Given the description of an element on the screen output the (x, y) to click on. 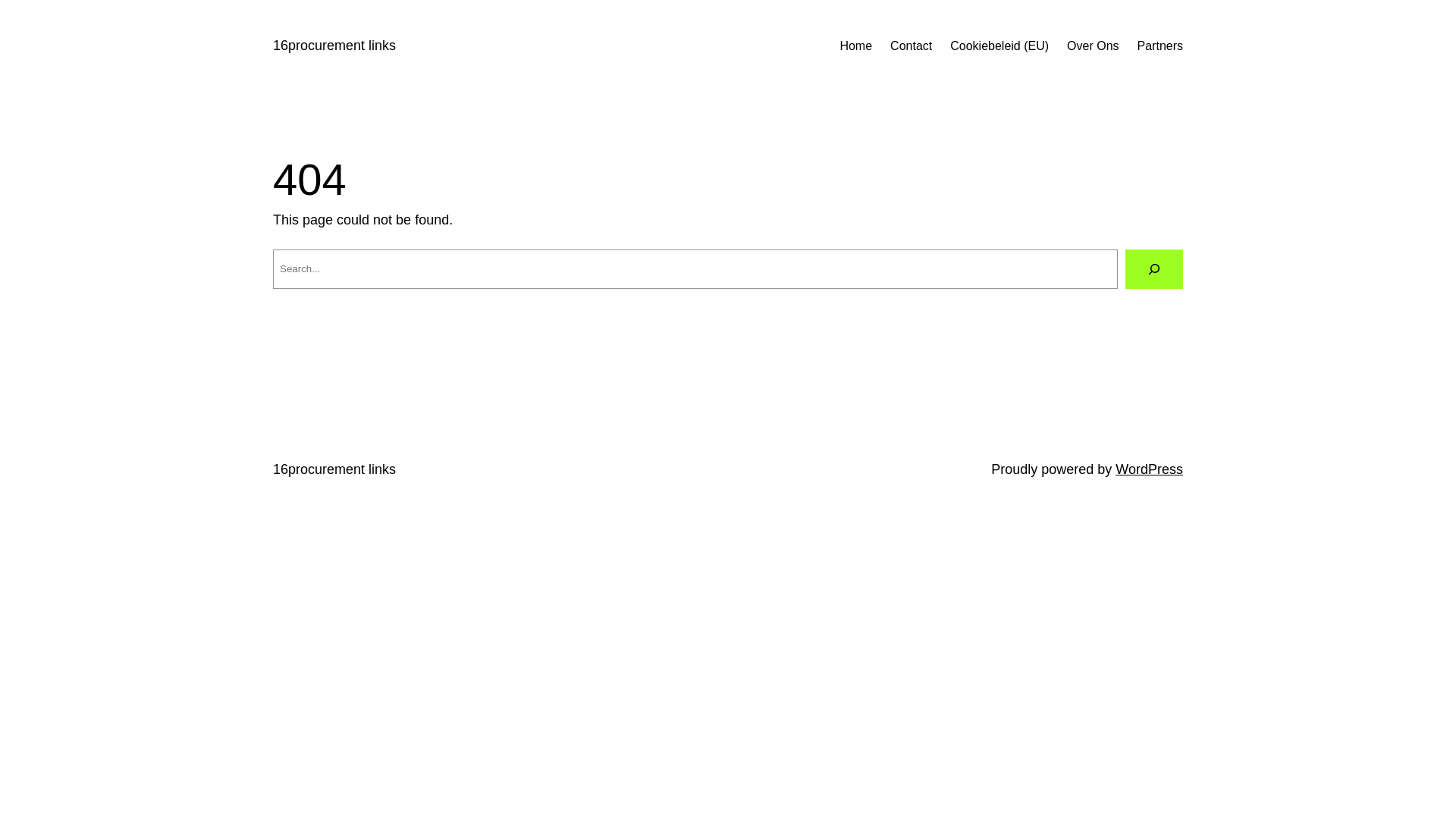
Contact Element type: text (910, 46)
Cookiebeleid (EU) Element type: text (999, 46)
16procurement links Element type: text (334, 468)
Home Element type: text (855, 46)
WordPress Element type: text (1149, 468)
Partners Element type: text (1160, 46)
16procurement links Element type: text (334, 45)
Over Ons Element type: text (1092, 46)
